Given the description of an element on the screen output the (x, y) to click on. 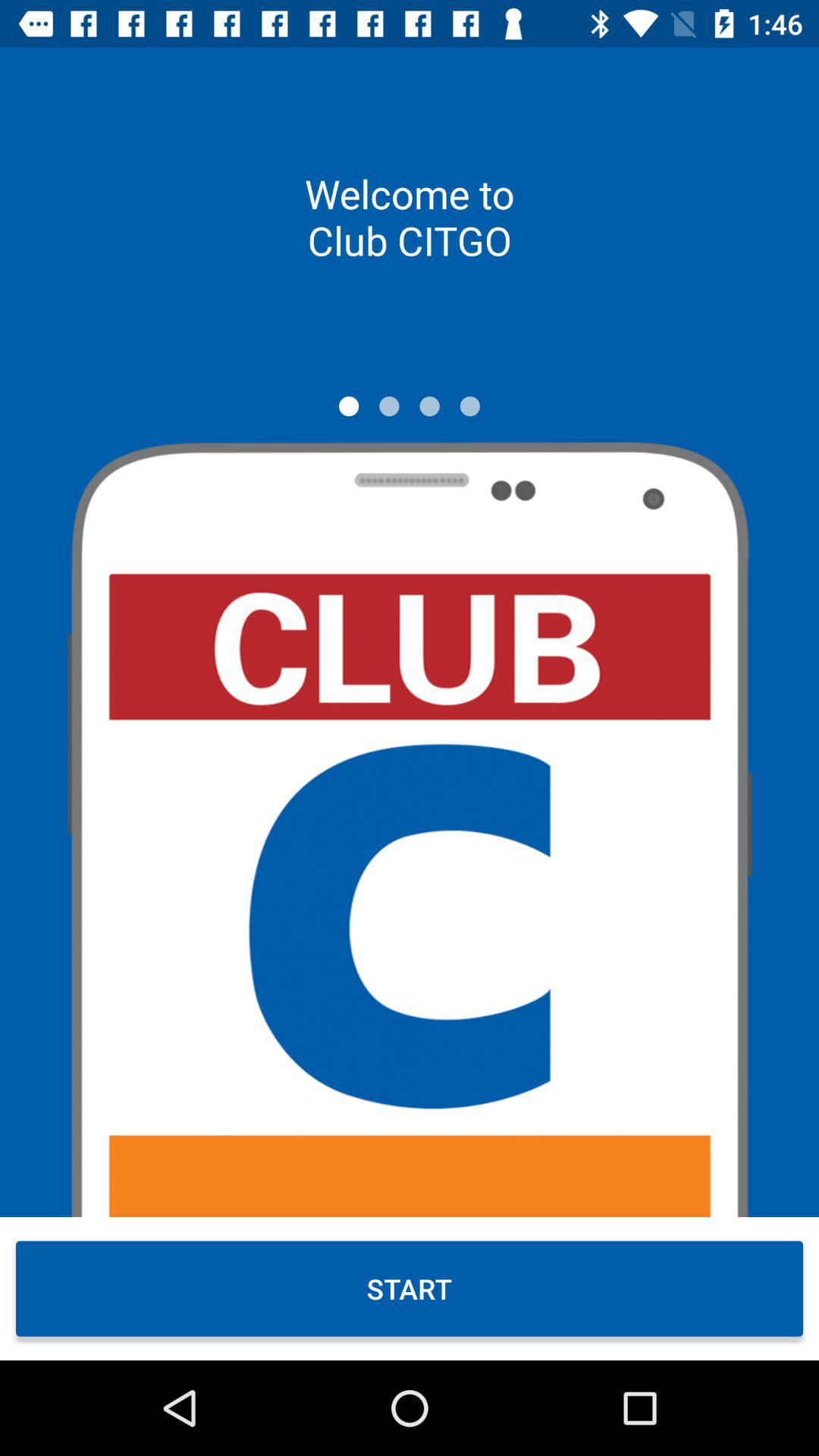
choose start item (409, 1288)
